Given the description of an element on the screen output the (x, y) to click on. 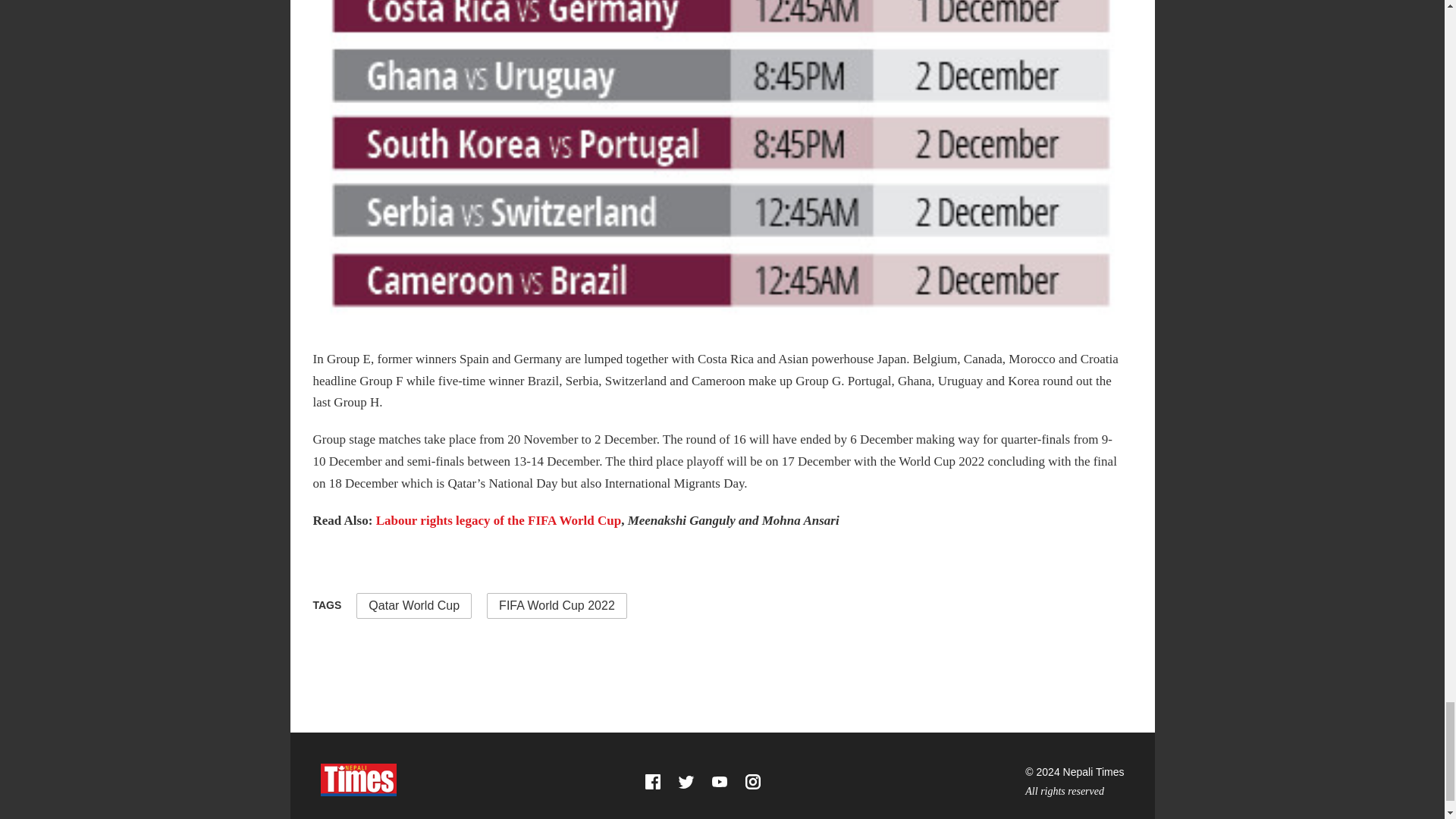
Labour rights legacy of the FIFA World Cup (496, 520)
Qatar World Cup (413, 605)
